Given the description of an element on the screen output the (x, y) to click on. 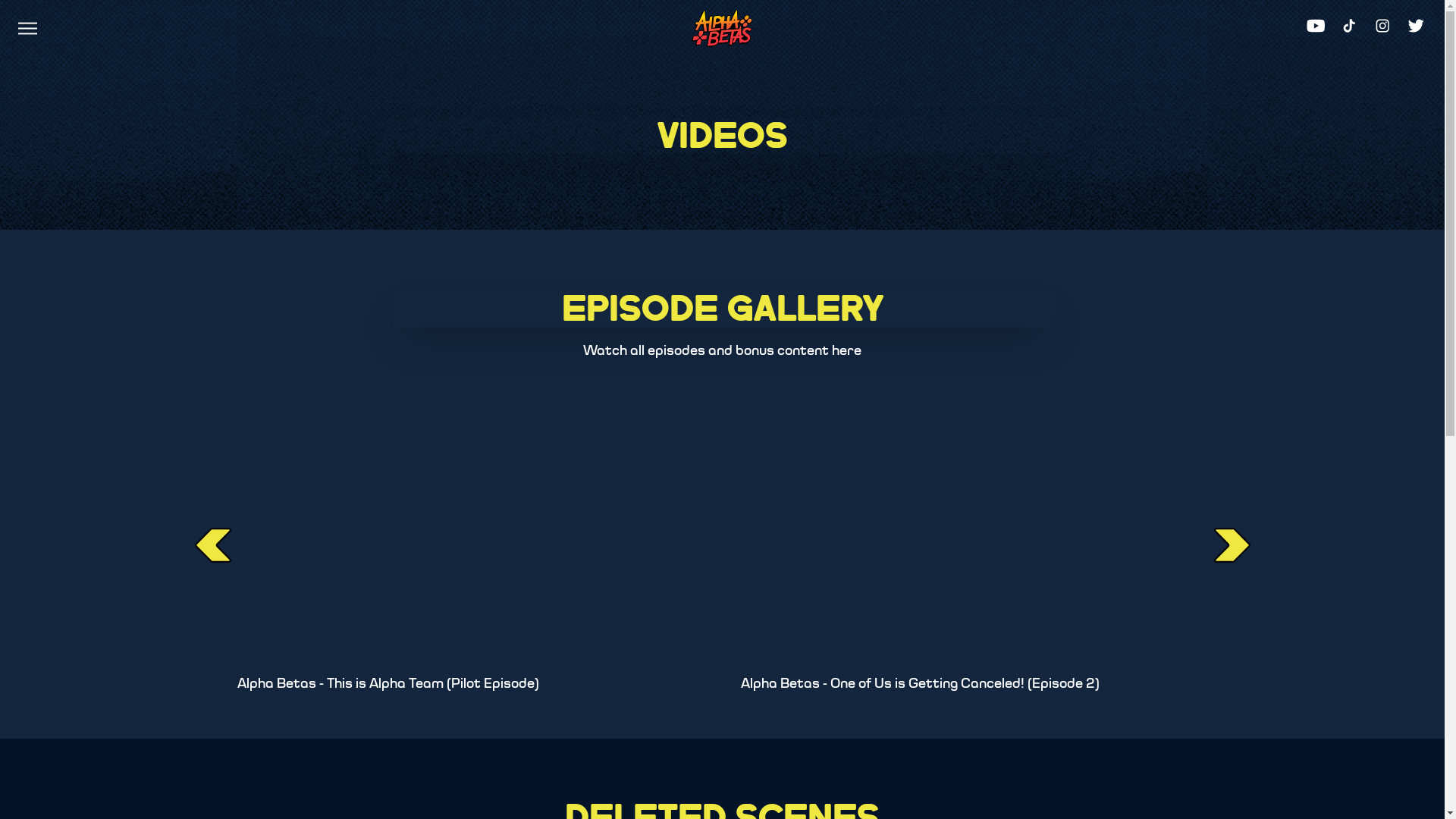
Twitter Element type: hover (1415, 25)
YouTube video player Element type: hover (469, 545)
Tik Tok Element type: hover (1348, 25)
Open Menu Element type: text (27, 31)
YouTube Element type: hover (1315, 25)
Instagram Element type: hover (1382, 25)
YouTube video player Element type: hover (973, 545)
